Given the description of an element on the screen output the (x, y) to click on. 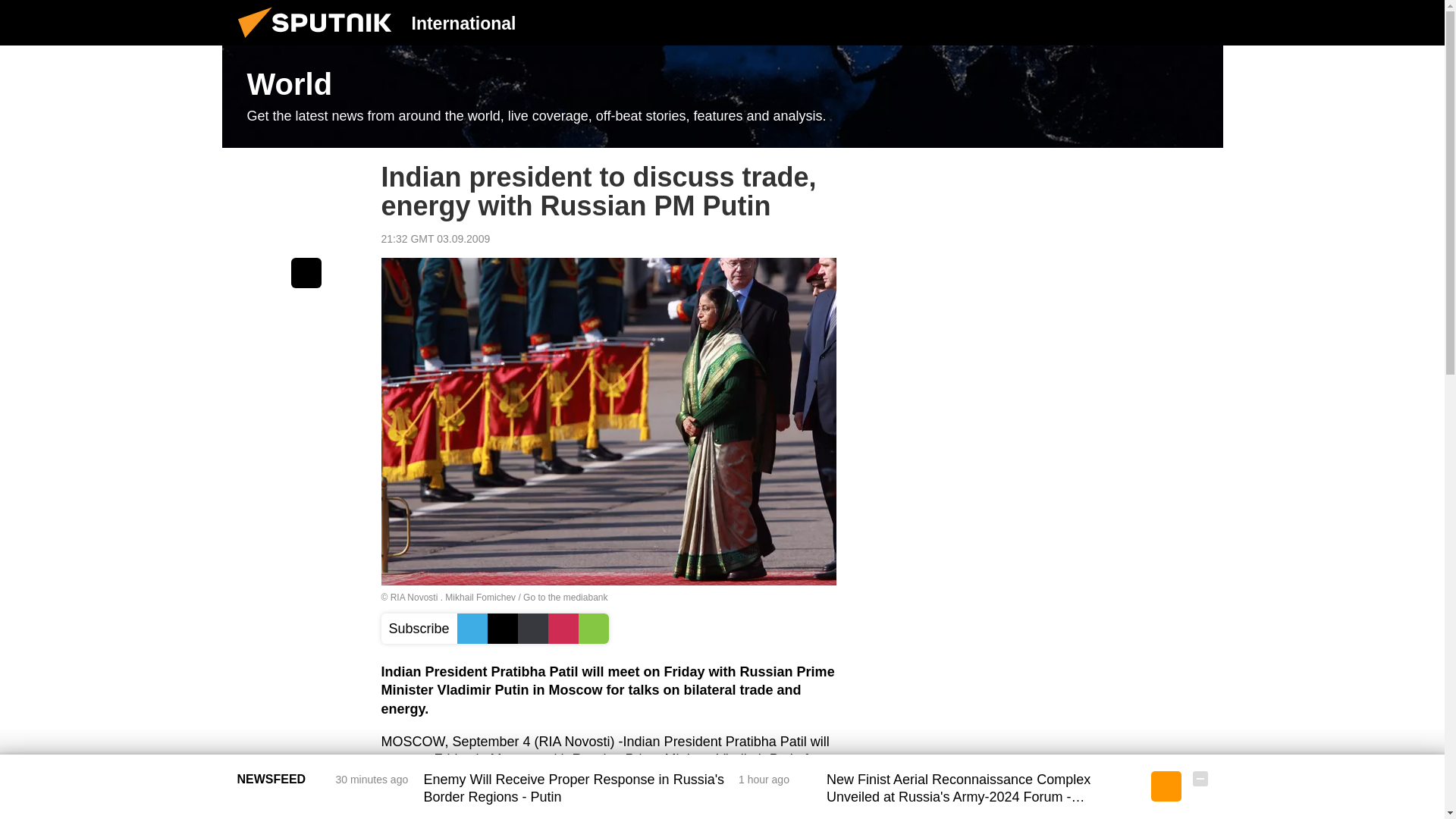
Sputnik International (319, 41)
Authorization (1123, 22)
Chats (1199, 22)
World (722, 96)
